Given the description of an element on the screen output the (x, y) to click on. 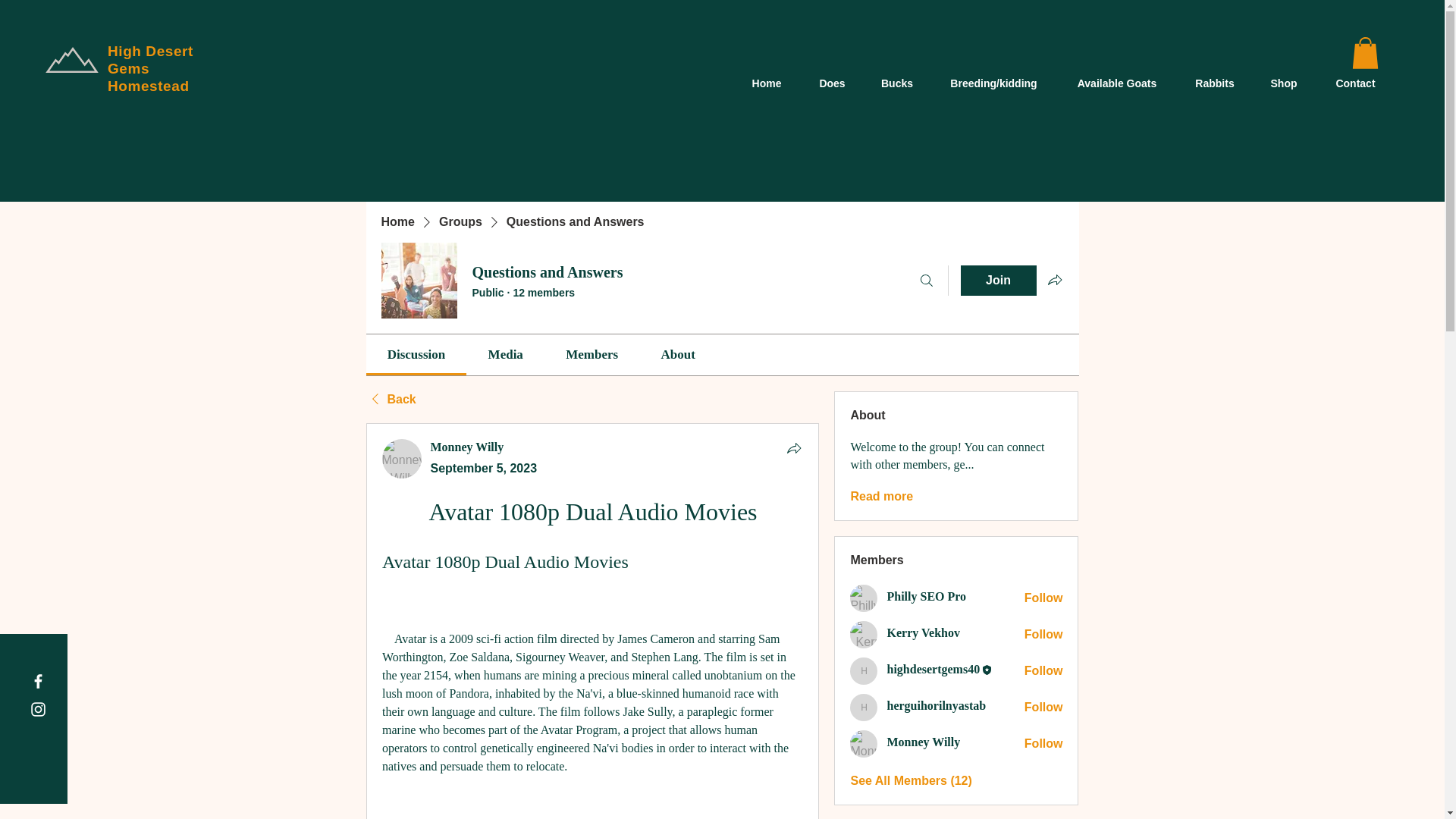
Monney Willy (466, 446)
Monney Willy (466, 446)
September 5, 2023 (483, 468)
Home (396, 221)
Bucks (896, 83)
Read more (881, 496)
Available Goats (1116, 83)
Shop (1283, 83)
Back (389, 399)
Philly SEO Pro (926, 596)
